Given the description of an element on the screen output the (x, y) to click on. 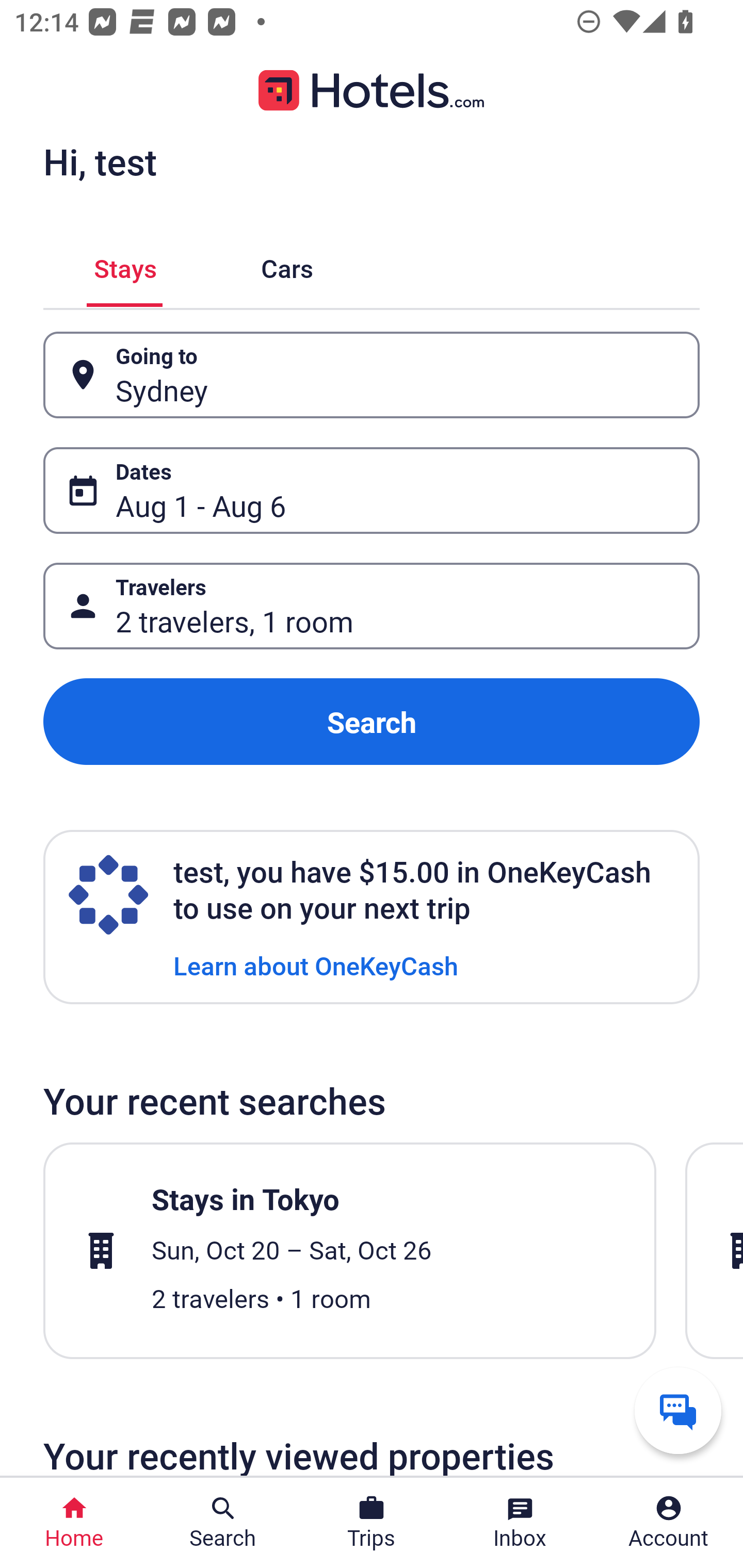
Hi, test (99, 161)
Cars (286, 265)
Going to Button Sydney (371, 375)
Dates Button Aug 1 - Aug 6 (371, 489)
Travelers Button 2 travelers, 1 room (371, 605)
Search (371, 721)
Learn about OneKeyCash Learn about OneKeyCash Link (315, 964)
Get help from a virtual agent (677, 1410)
Search Search Button (222, 1522)
Trips Trips Button (371, 1522)
Inbox Inbox Button (519, 1522)
Account Profile. Button (668, 1522)
